Given the description of an element on the screen output the (x, y) to click on. 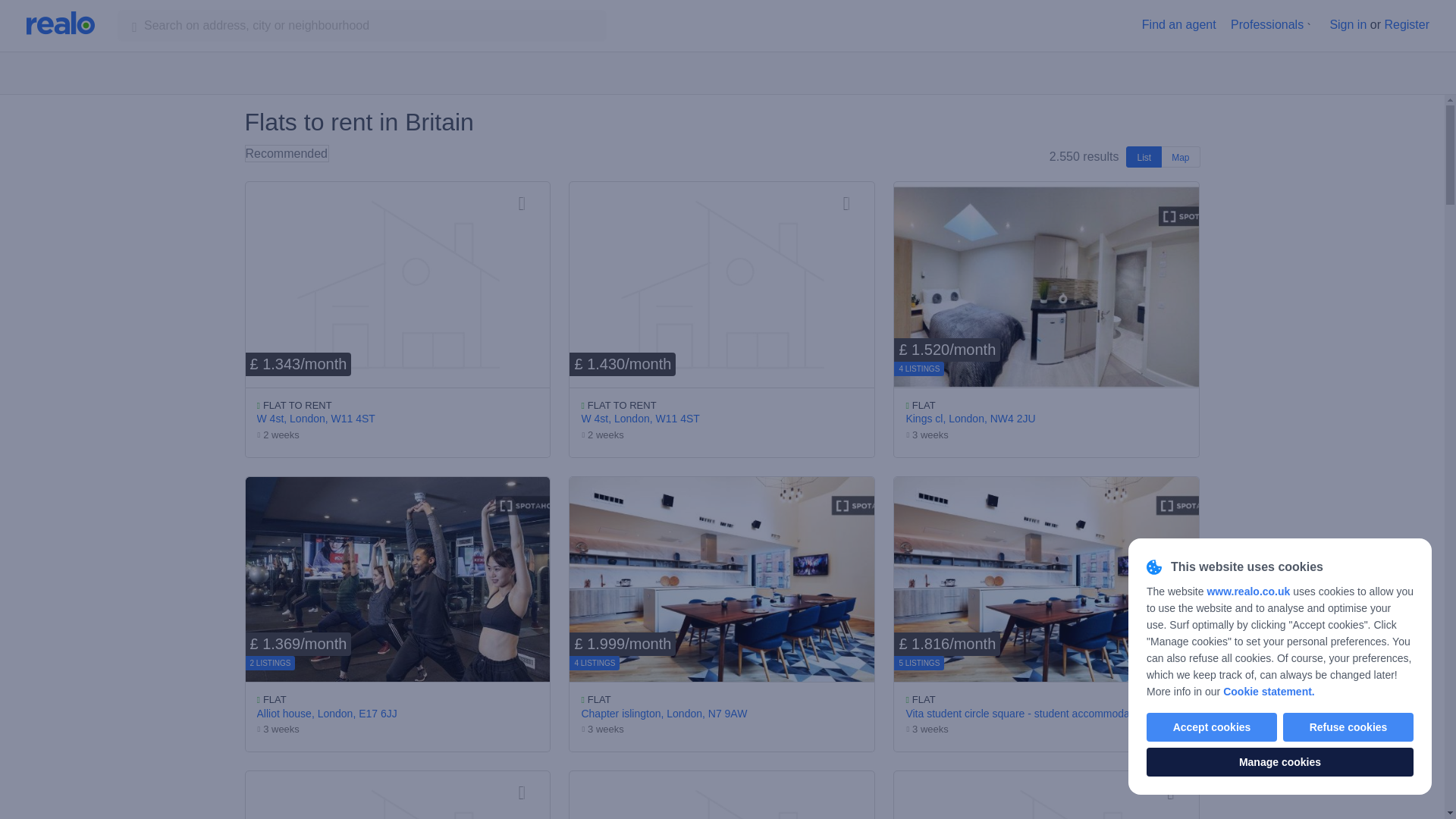
Realo (60, 23)
Professionals (1266, 24)
Find an agent (1178, 24)
